Given the description of an element on the screen output the (x, y) to click on. 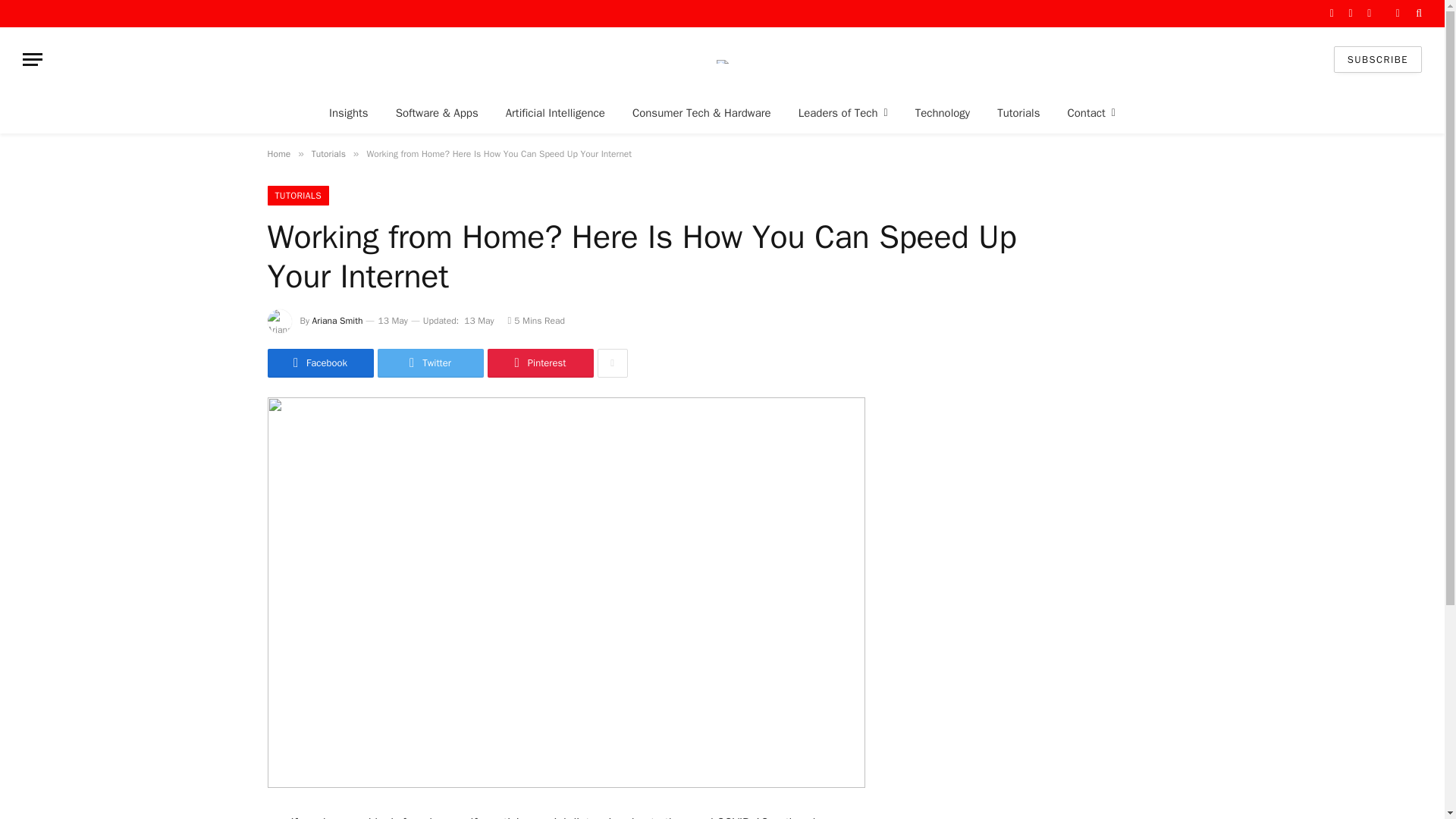
Artificial Intelligence (555, 112)
SUBSCRIBE (1377, 58)
Leaders of Tech (842, 112)
Posts by Ariana Smith (337, 320)
Tutorials (1018, 112)
Insights (348, 112)
Technology (942, 112)
Switch to Dark Design - easier on eyes. (1397, 13)
Share on Facebook (319, 362)
Contact (1090, 112)
